Given the description of an element on the screen output the (x, y) to click on. 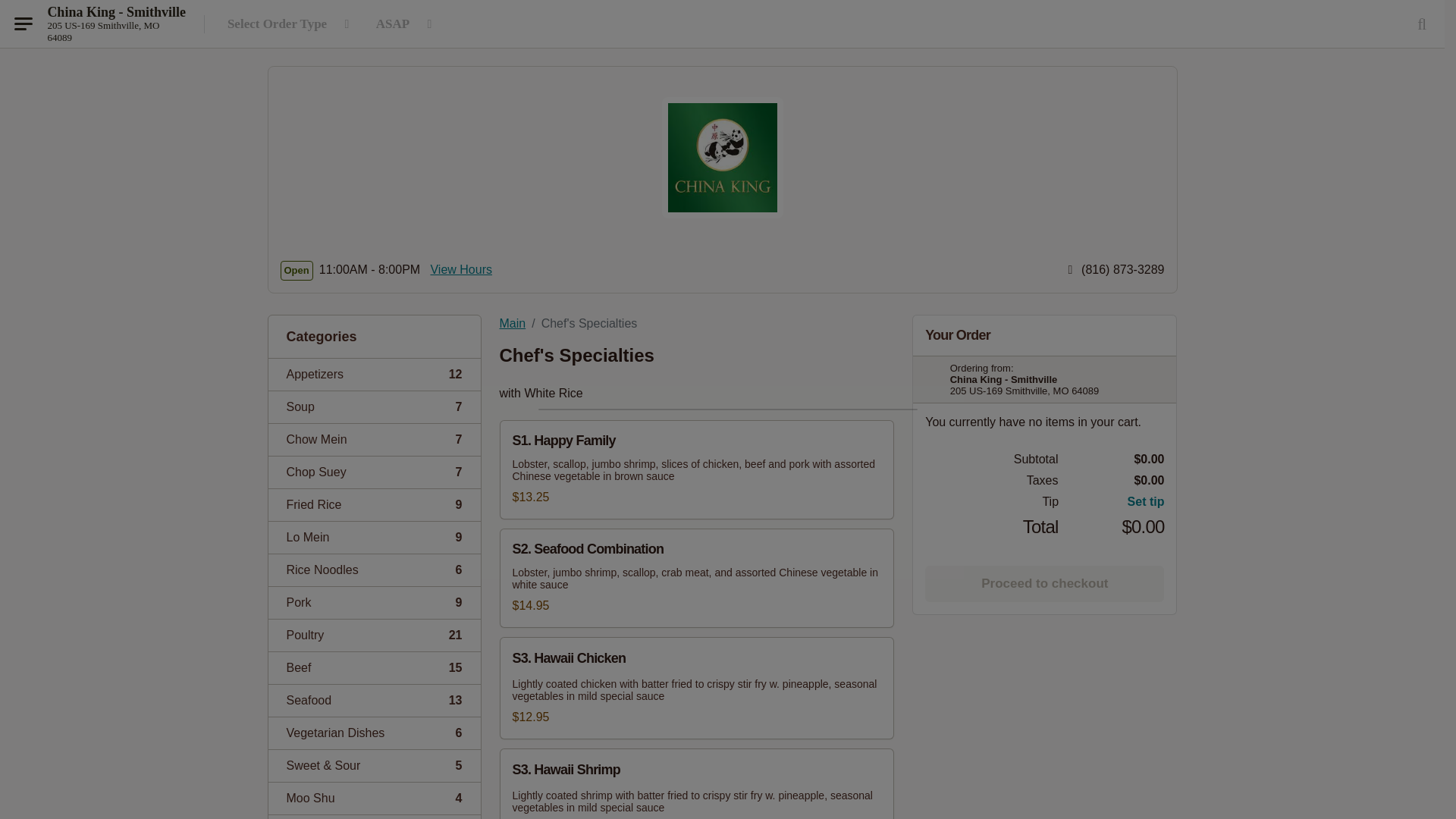
Select Order Type (373, 406)
Proceed to checkout (373, 471)
205 US-169 Smithville, MO 64089 (290, 23)
View Hours (1043, 583)
China King - Smithville (116, 31)
